Given the description of an element on the screen output the (x, y) to click on. 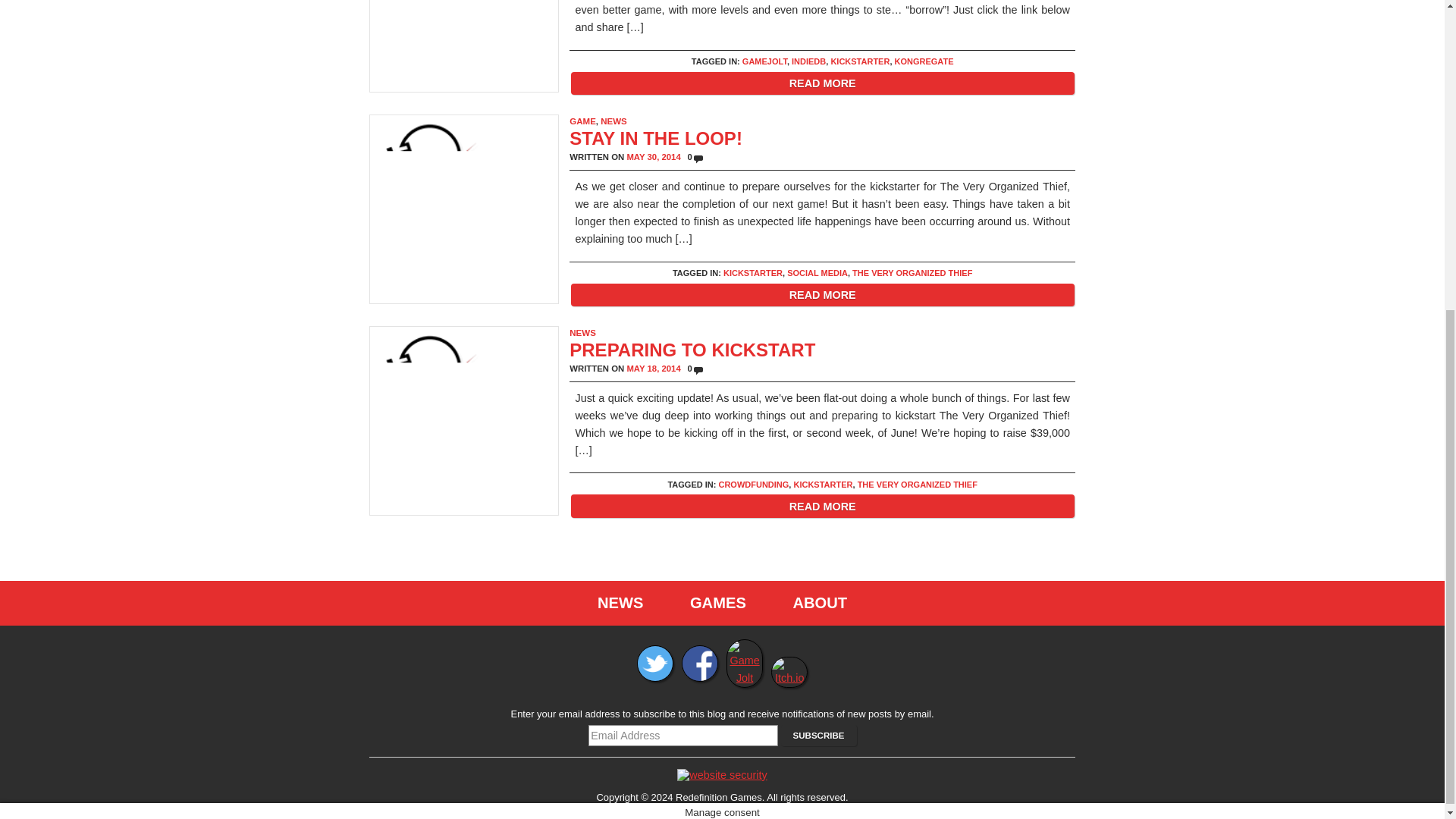
STAY IN THE LOOP! (655, 137)
NEWS (613, 121)
READ MORE (822, 83)
THE VERY ORGANIZED THIEF (911, 272)
Find us on Game Jolt (744, 677)
READ MORE (822, 294)
INDIEDB (808, 61)
GAMEJOLT (764, 61)
Find us on Twitter (654, 677)
SiteLock (722, 775)
